Given the description of an element on the screen output the (x, y) to click on. 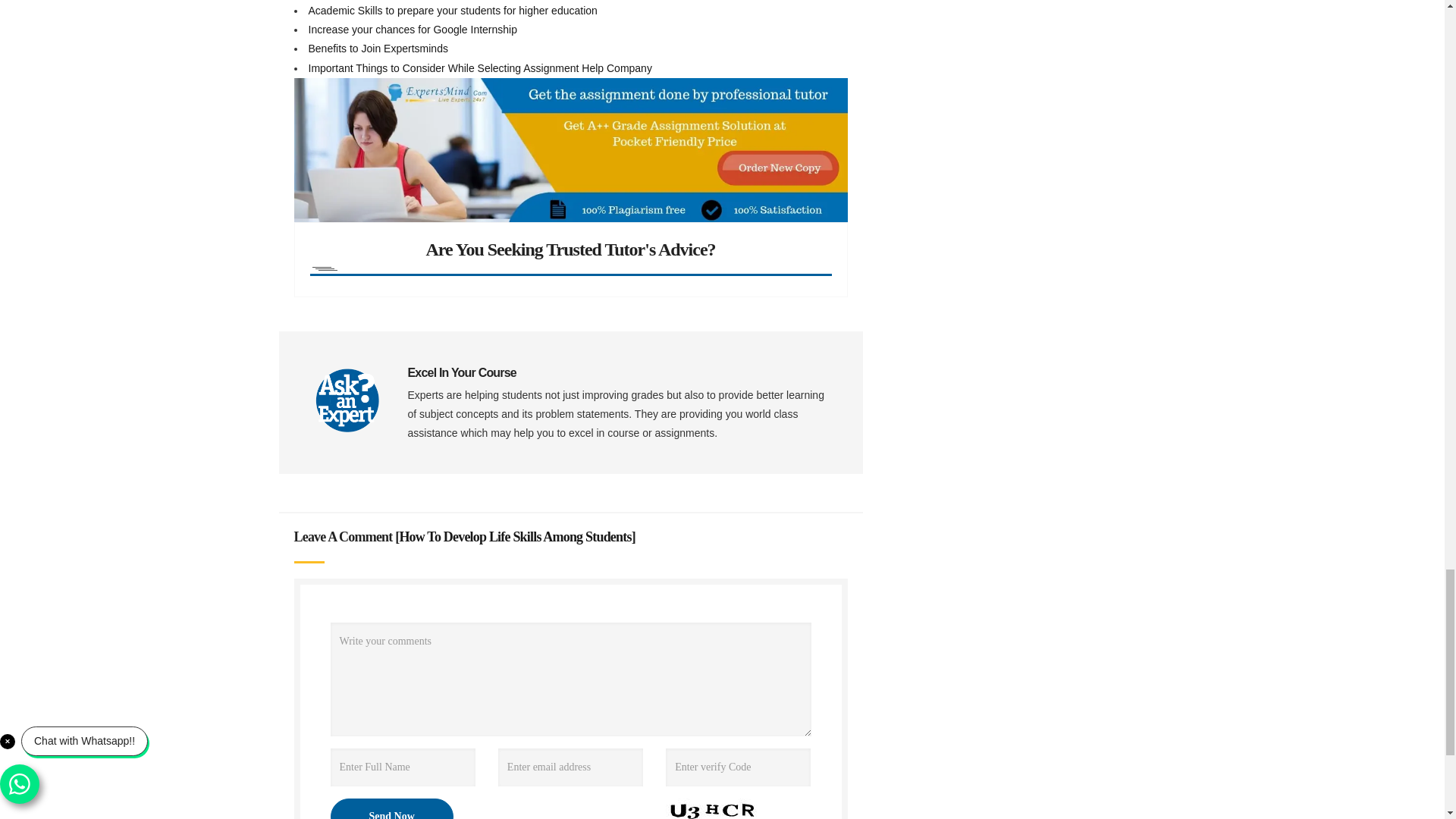
Increase your chances for Google Internship (411, 29)
Send Now (391, 808)
Benefits to Join Expertsminds (376, 48)
